Given the description of an element on the screen output the (x, y) to click on. 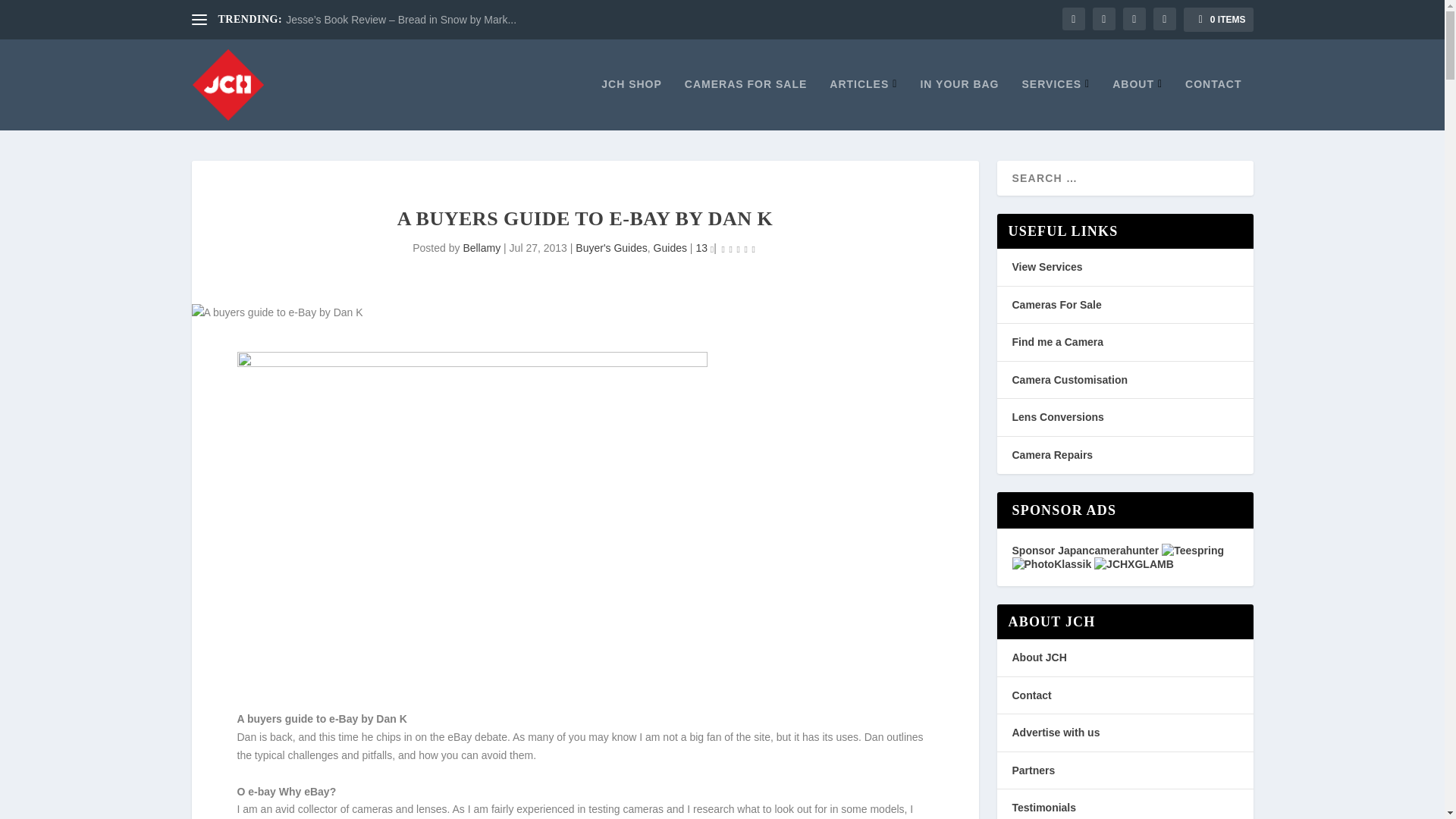
ABout Japan Camera Hunter (1136, 103)
0 Items in Cart (1218, 19)
In Your Bag (959, 103)
Posts by Bellamy (481, 247)
0 ITEMS (1218, 19)
ABOUT (1136, 103)
Rating: 0.50 (738, 248)
CAMERAS FOR SALE (745, 103)
JCH SHOP (631, 103)
ARTICLES (862, 103)
IN YOUR BAG (959, 103)
SERVICES (1056, 103)
